Given the description of an element on the screen output the (x, y) to click on. 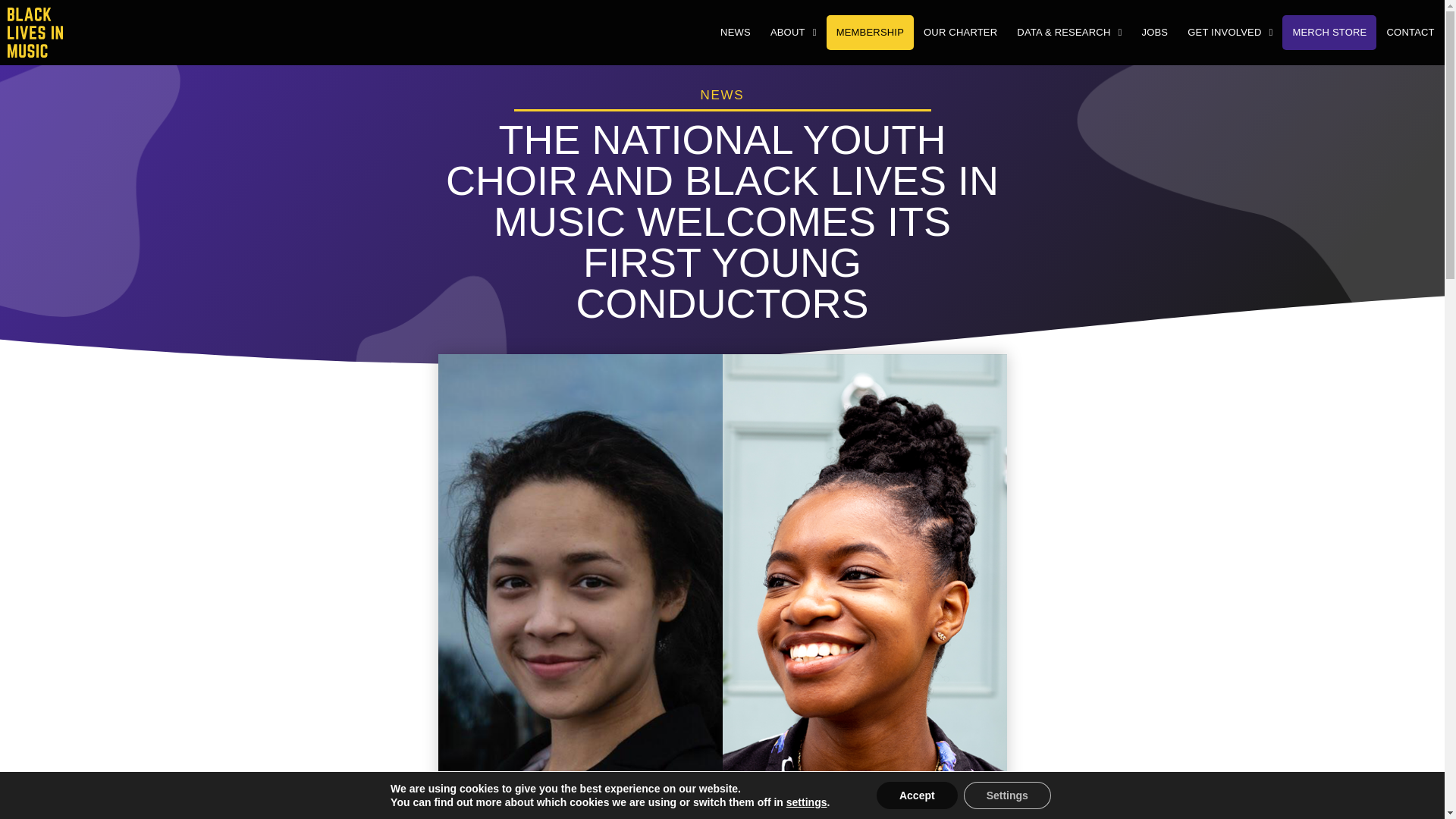
MERCH STORE (1328, 32)
ABOUT (793, 32)
NEWS (735, 32)
CONTACT (1409, 32)
OUR CHARTER (960, 32)
GET INVOLVED (1229, 32)
JOBS (1154, 32)
MEMBERSHIP (870, 32)
